Given the description of an element on the screen output the (x, y) to click on. 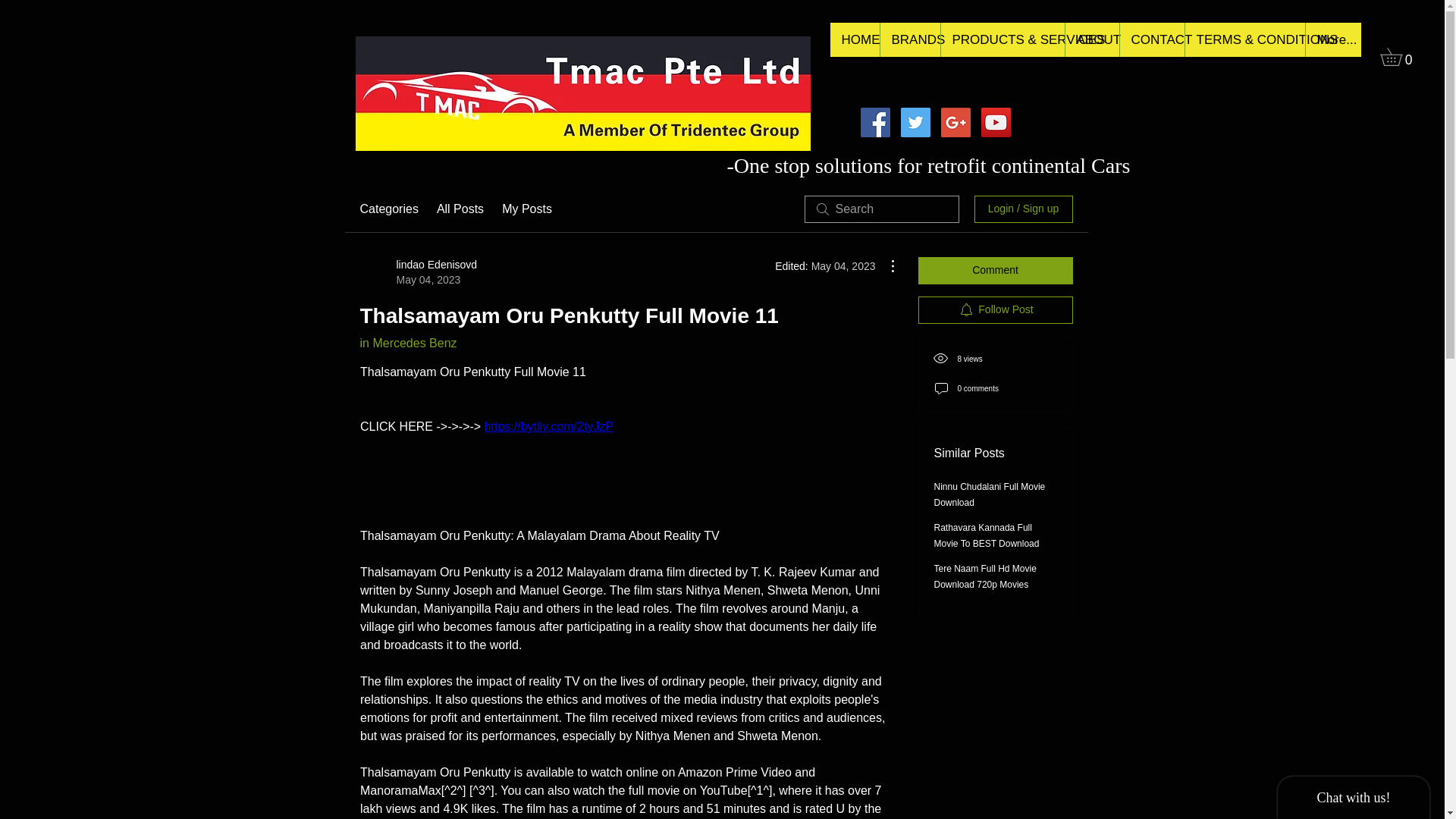
ABOUT (1091, 39)
Ninnu Chudalani Full Movie Download (989, 494)
BRANDS (909, 39)
Tere Naam Full Hd Movie Download 720p Movies (985, 576)
All Posts (459, 208)
Comment (994, 270)
My Posts (526, 208)
in Mercedes Benz (408, 342)
0 (1399, 56)
Follow Post (994, 309)
HOME (854, 39)
CONTACT (1152, 39)
0 (1399, 56)
Rathavara Kannada Full Movie To BEST Download (986, 535)
Categories (388, 208)
